Given the description of an element on the screen output the (x, y) to click on. 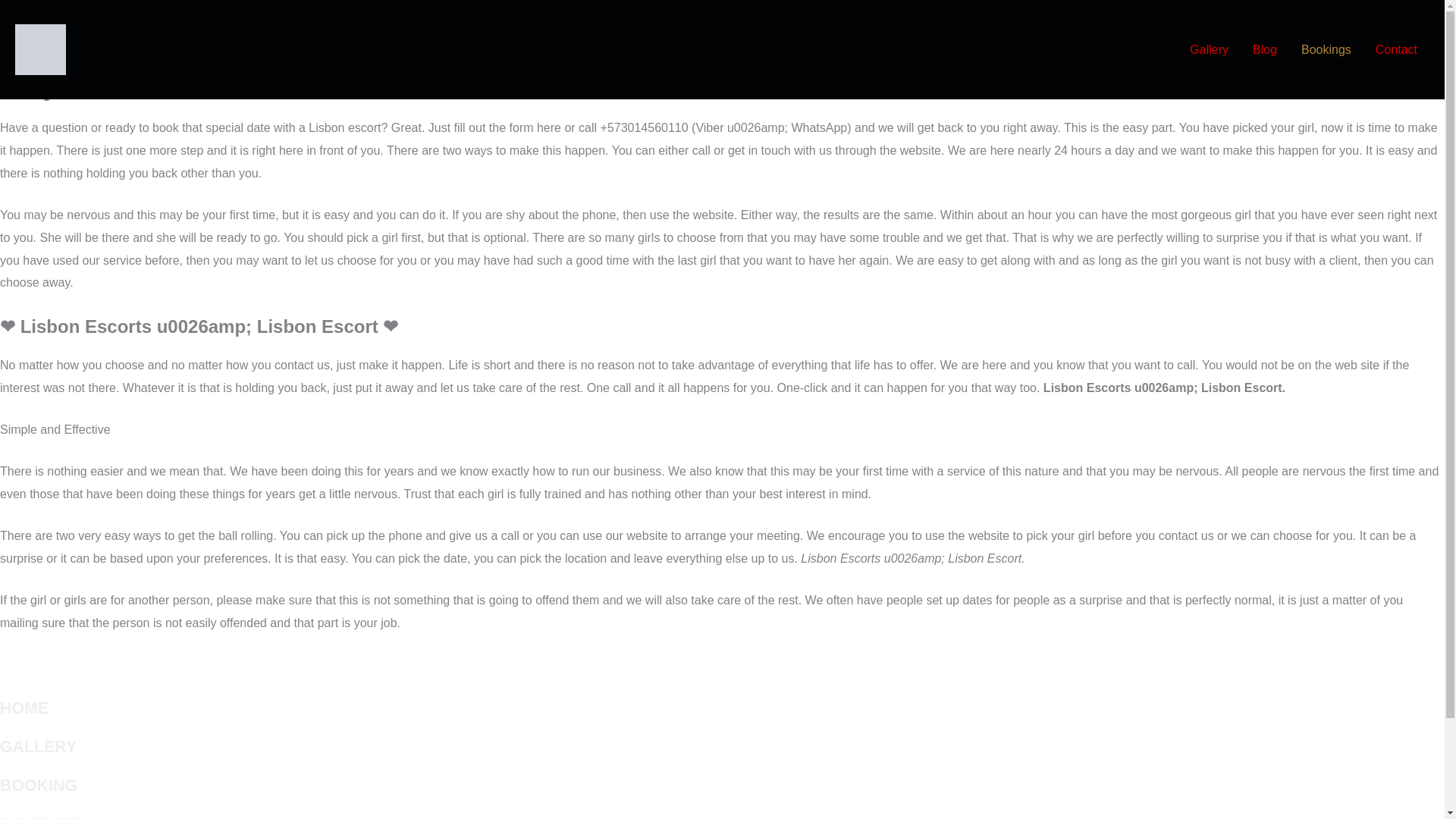
CONTACT (39, 816)
BOOKING (38, 785)
Blog (1264, 49)
Gallery (1208, 49)
HOME (24, 708)
Contact (1395, 49)
GALLERY (38, 746)
Bookings (1325, 49)
